Given the description of an element on the screen output the (x, y) to click on. 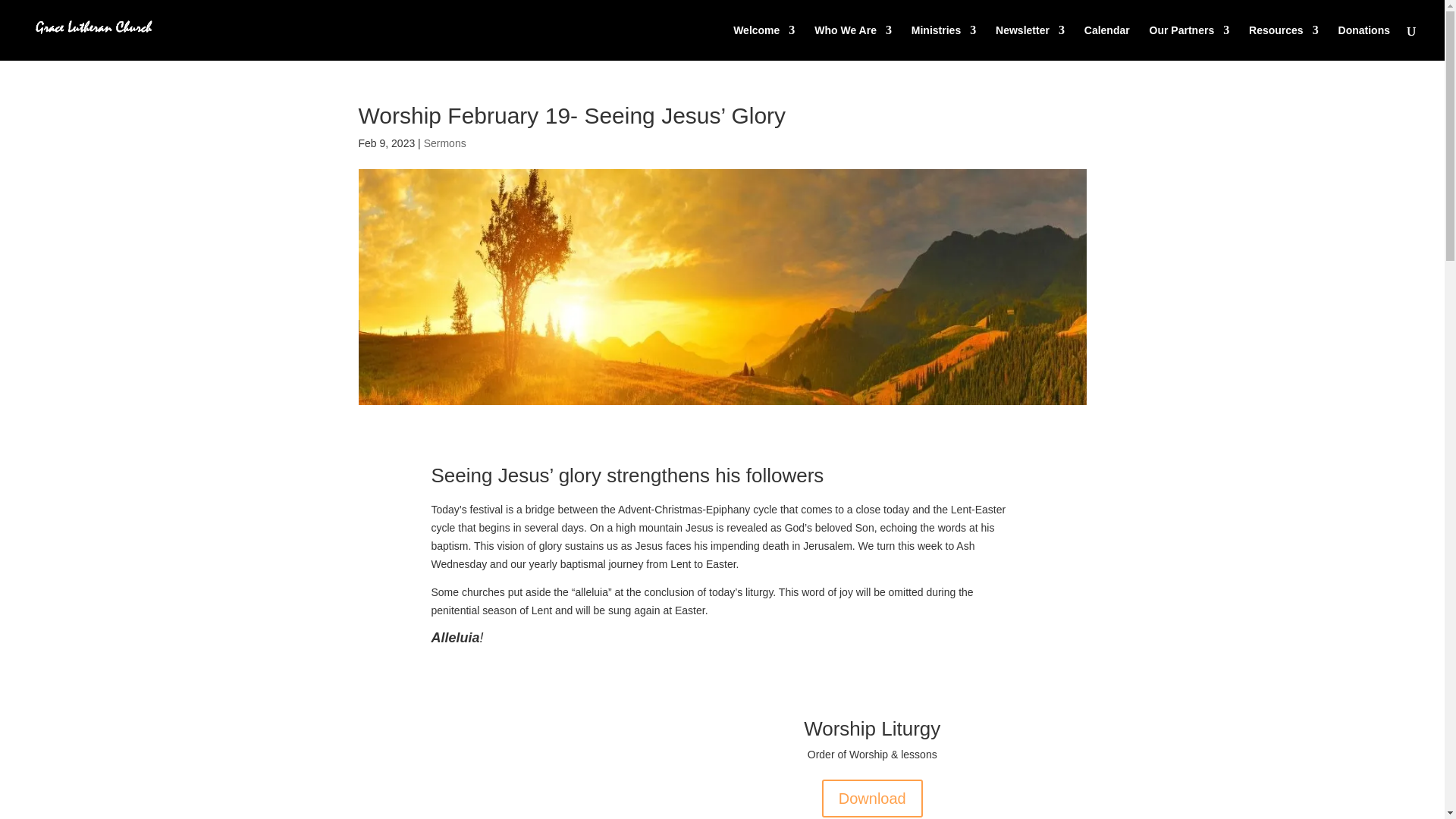
Newsletter (1029, 42)
Ministries (943, 42)
Resources (1284, 42)
Calendar (1106, 42)
Welcome (763, 42)
Who We Are (852, 42)
Our Partners (1190, 42)
